Given the description of an element on the screen output the (x, y) to click on. 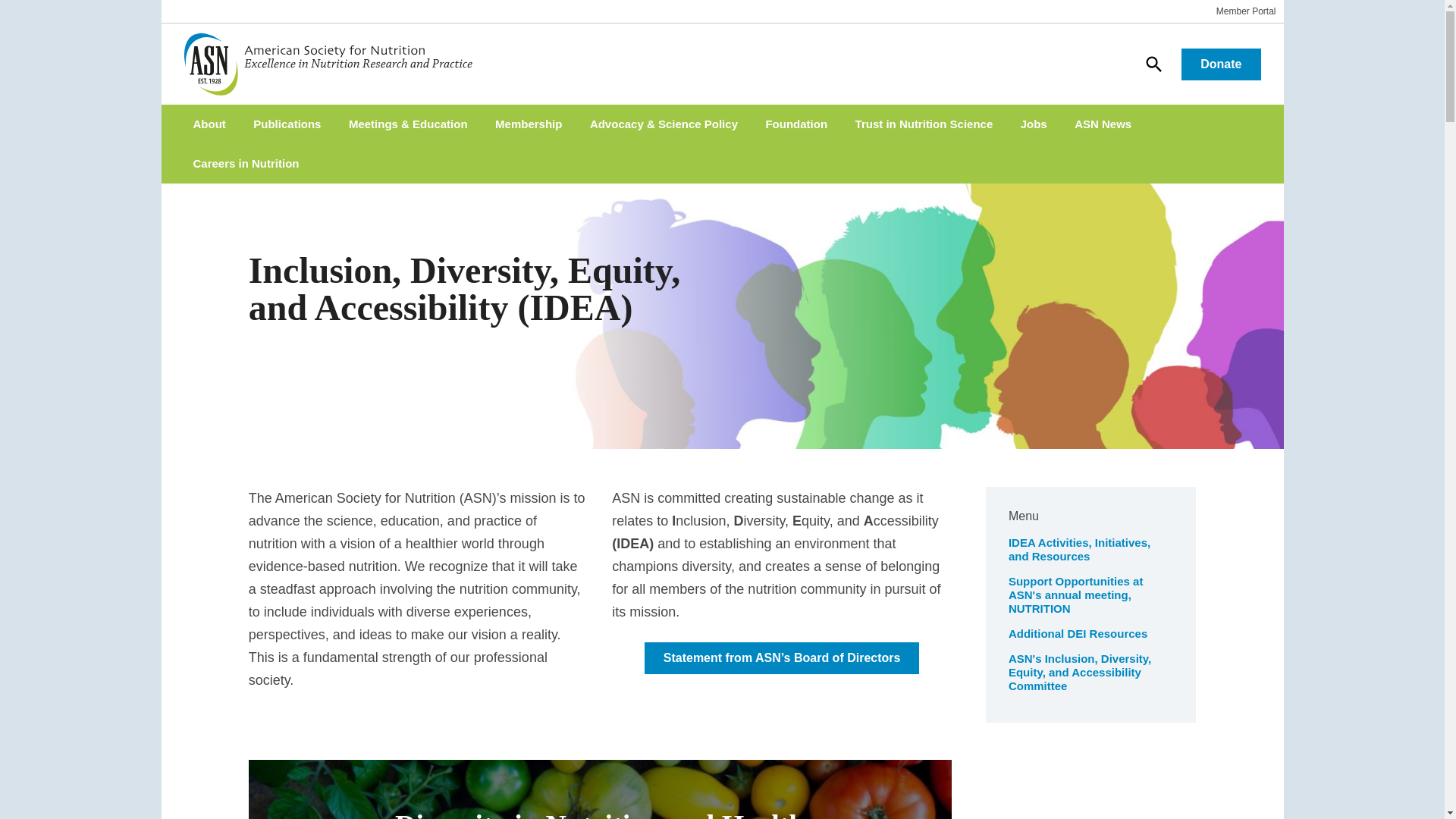
Donate (1220, 64)
Membership (528, 124)
About (208, 124)
Member Portal (1246, 10)
Publications (287, 124)
Search (1153, 63)
American Society for Nutrition (334, 63)
